Given the description of an element on the screen output the (x, y) to click on. 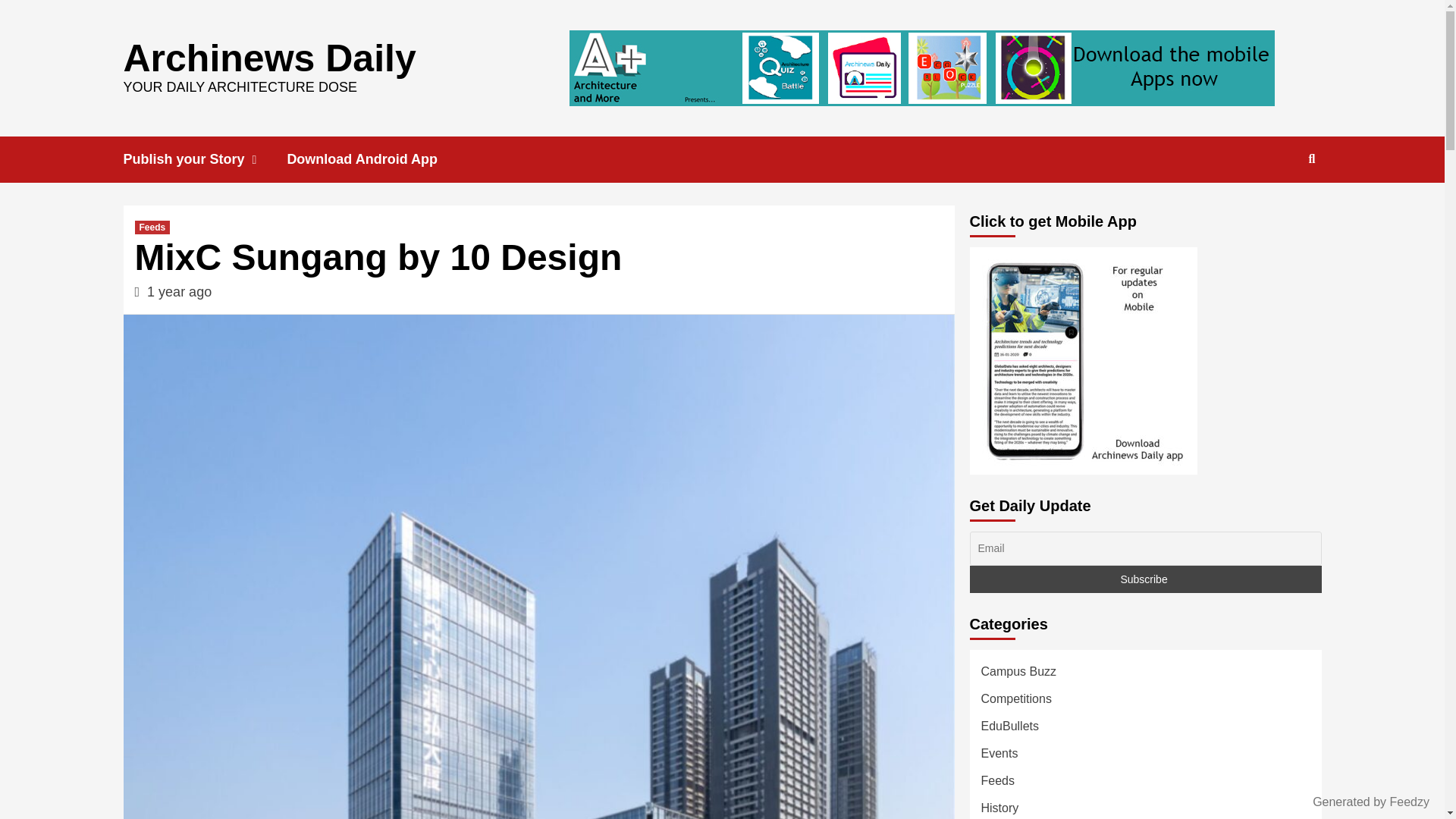
Download Android App (373, 159)
Archinews Daily (268, 57)
1 year ago (179, 291)
Publish your Story (204, 159)
Search (1312, 158)
Click to get Mobile App (1082, 361)
Feeds (152, 227)
Search (1276, 207)
Subscribe  (1144, 578)
